Given the description of an element on the screen output the (x, y) to click on. 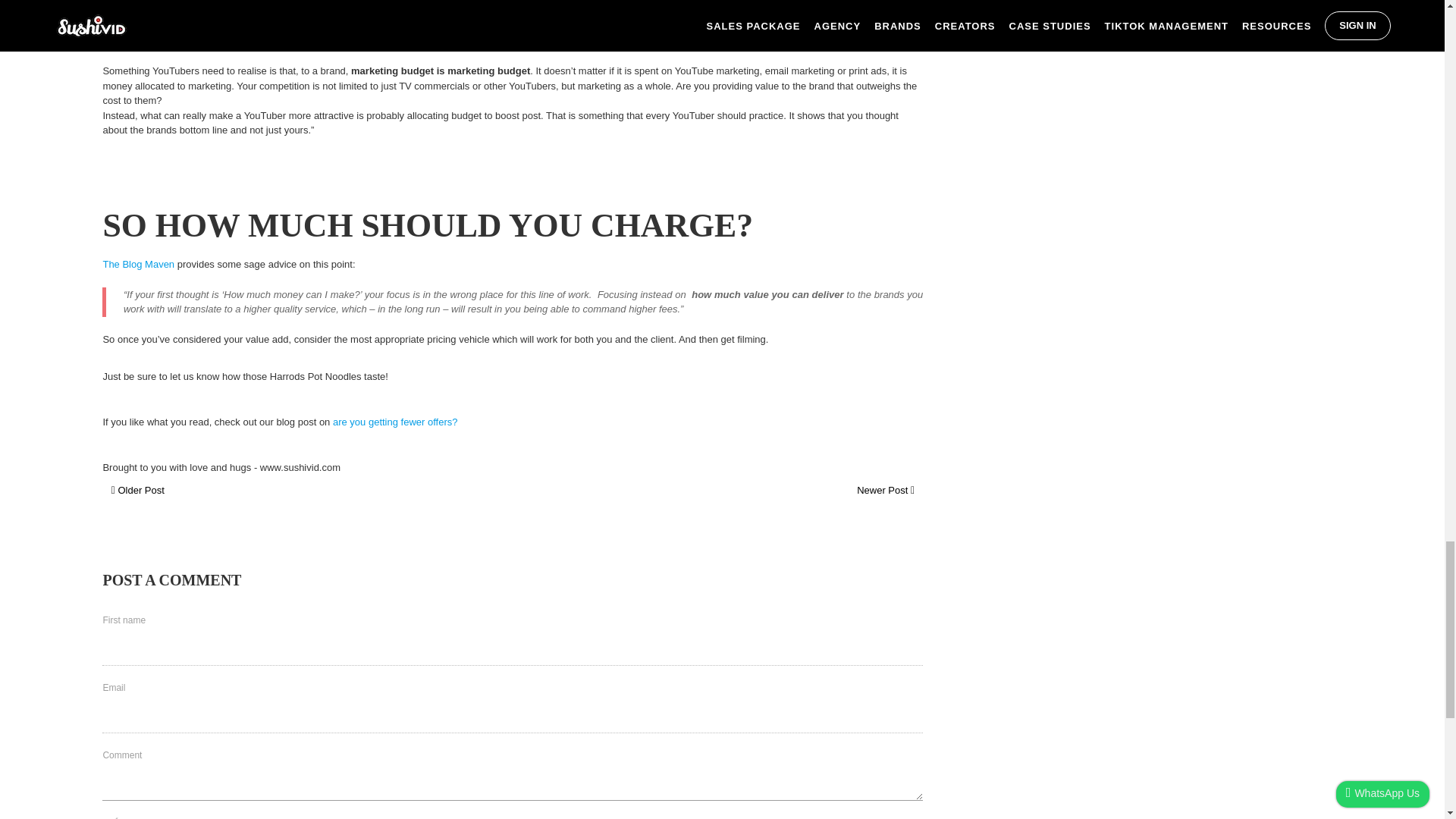
Older Post (138, 490)
are you getting fewer offers? (395, 421)
Newer Post (885, 490)
The Blog Maven (137, 264)
